Given the description of an element on the screen output the (x, y) to click on. 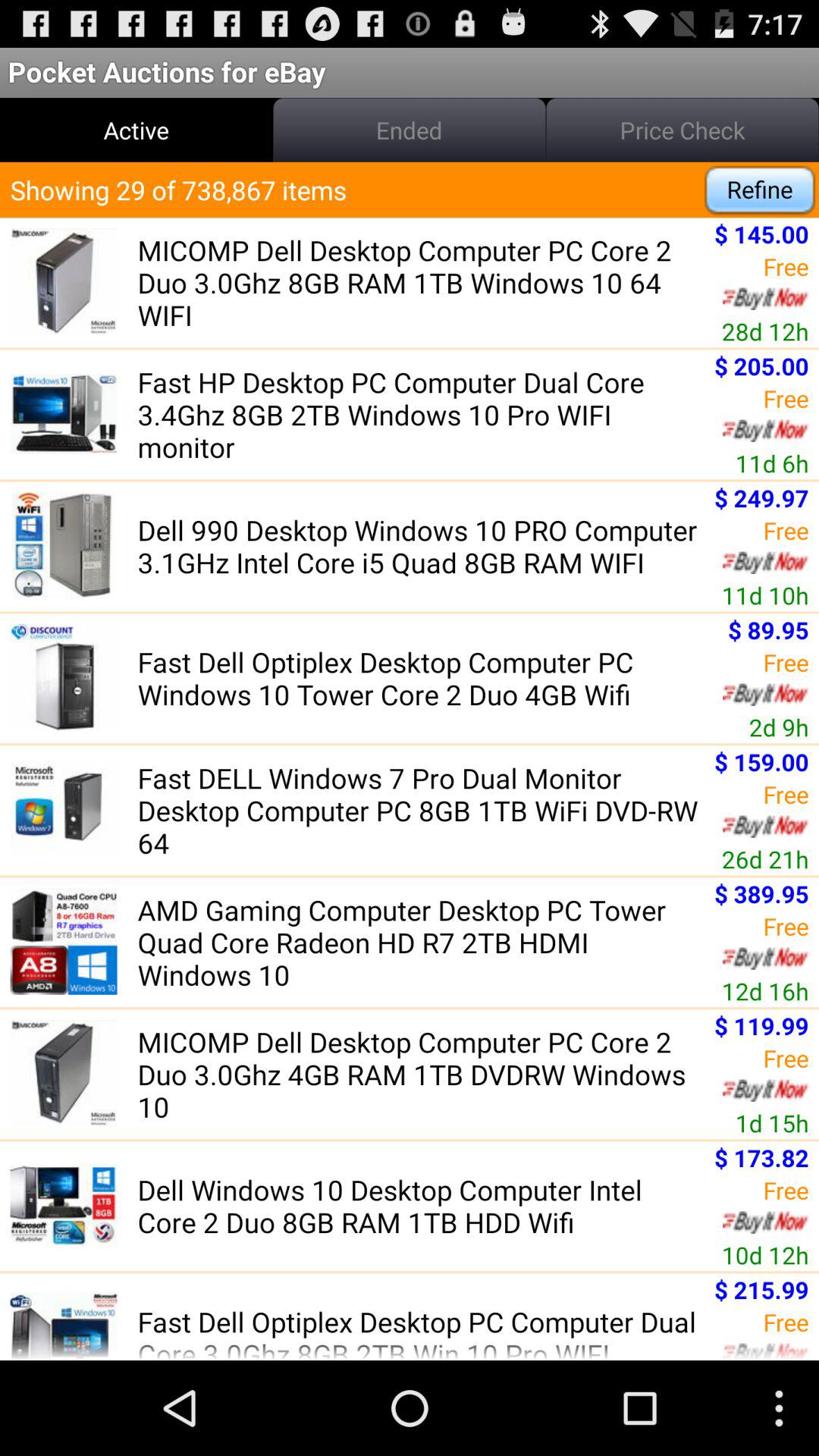
launch the app above the free app (761, 1157)
